Given the description of an element on the screen output the (x, y) to click on. 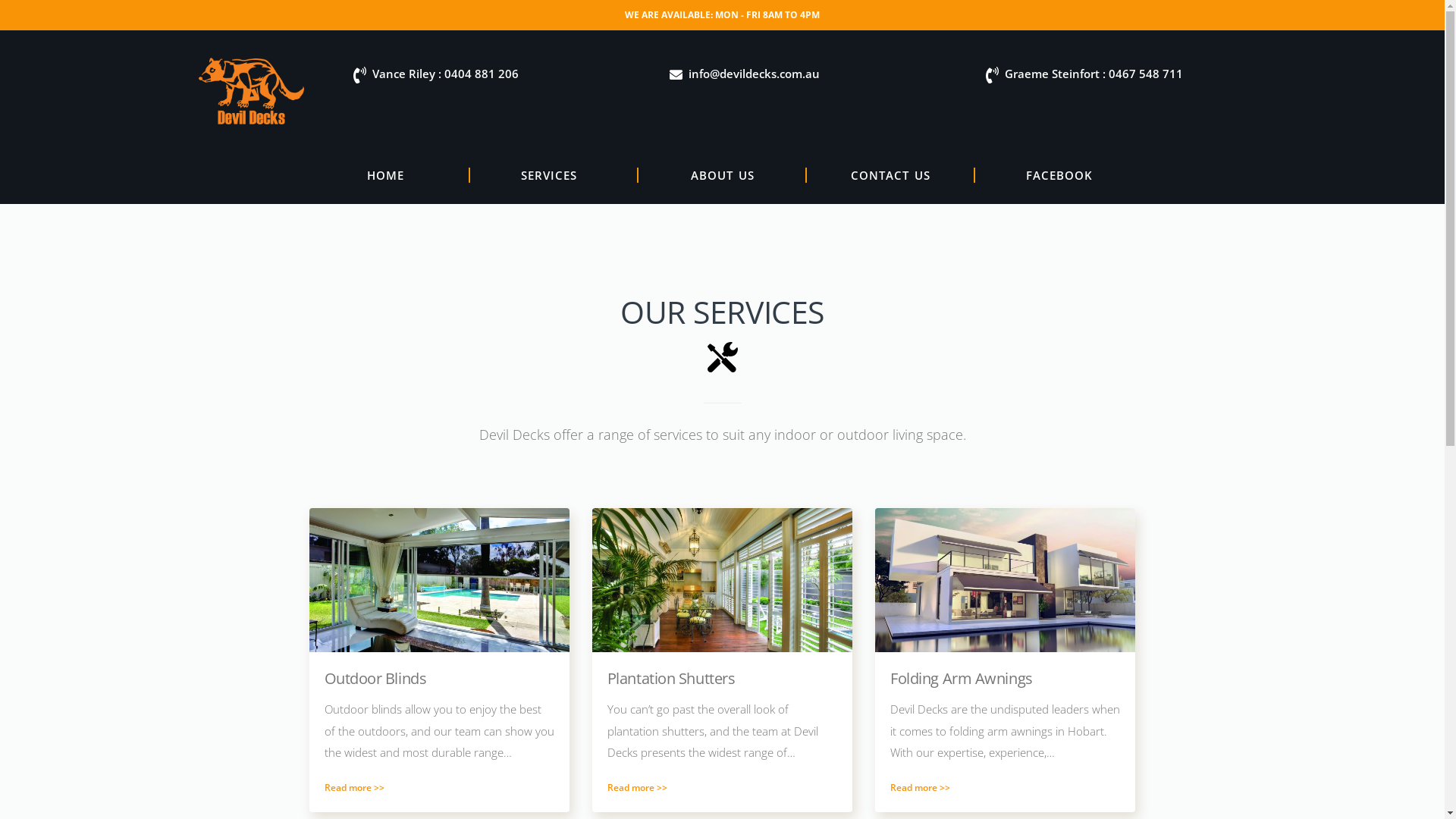
CONTACT US Element type: text (890, 174)
SERVICES Element type: text (554, 174)
ABOUT US Element type: text (722, 174)
FACEBOOK Element type: text (1059, 174)
HOME Element type: text (385, 174)
Read more >> Element type: text (354, 787)
Read more >> Element type: text (920, 787)
Read more >> Element type: text (637, 787)
